Given the description of an element on the screen output the (x, y) to click on. 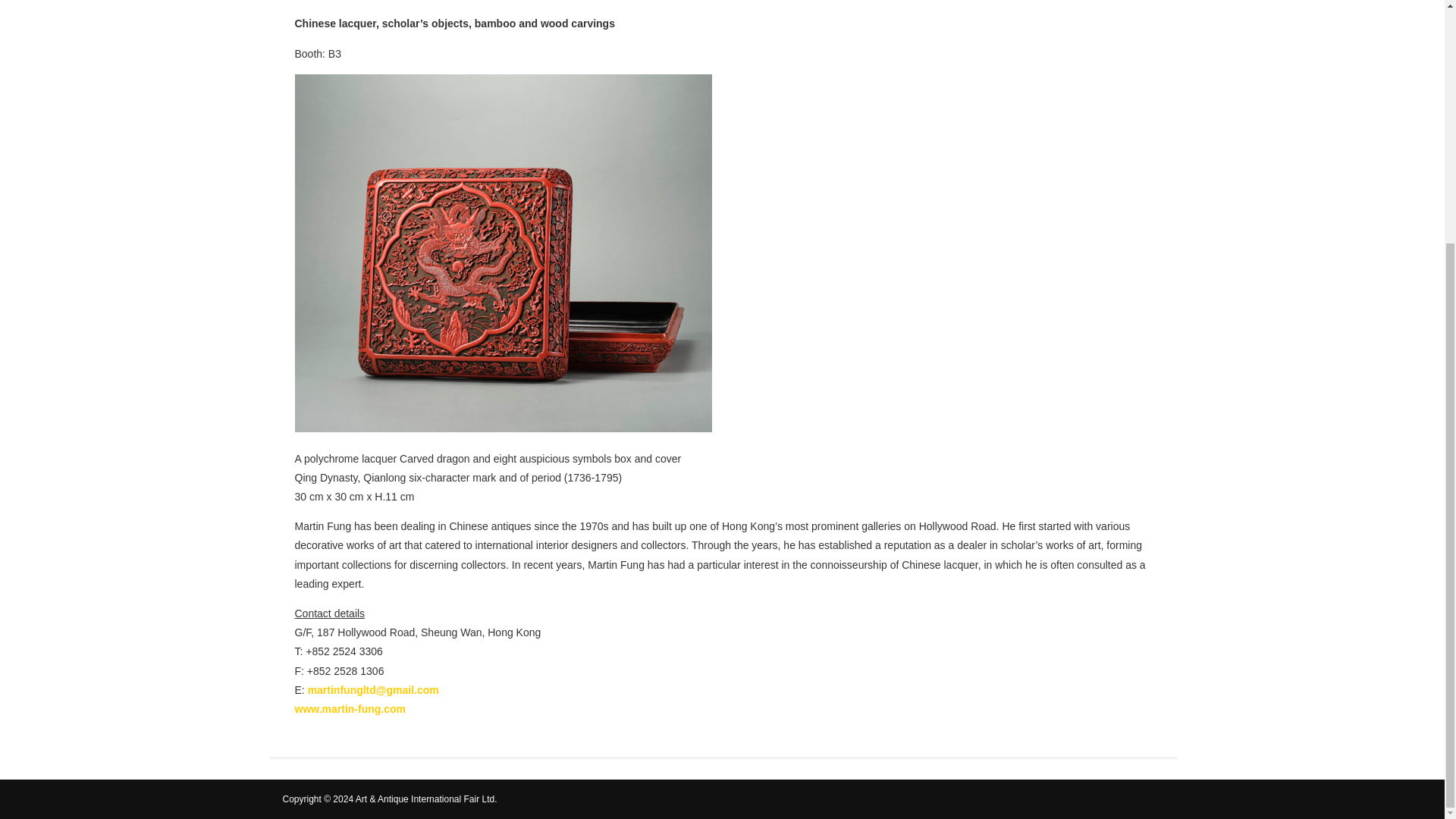
www.martin-fung.com (349, 708)
